Given the description of an element on the screen output the (x, y) to click on. 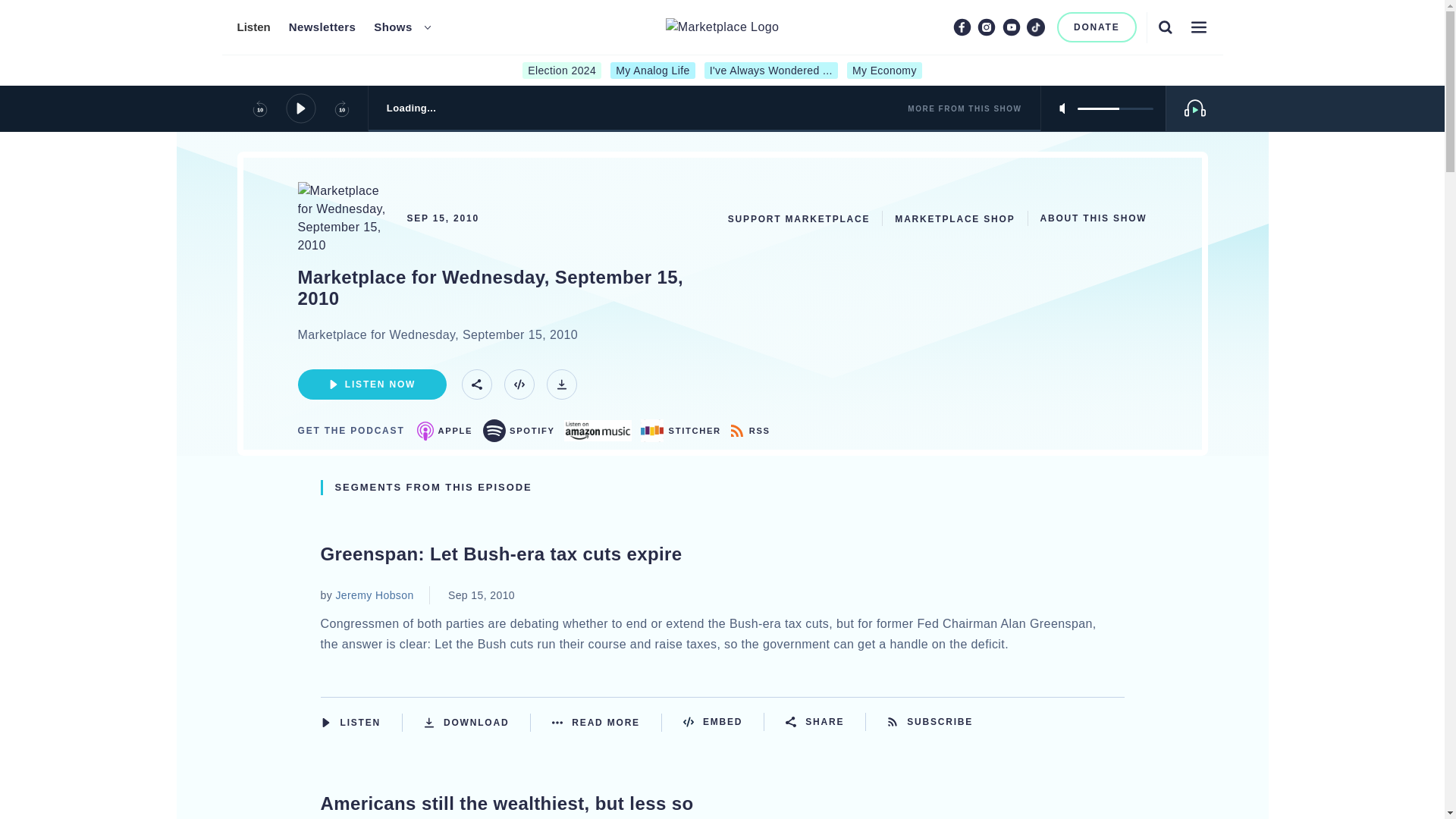
Shows (393, 26)
Newsletters (322, 27)
TikTok (1035, 27)
Skip 10 Seconds (341, 108)
Listen Now (371, 384)
5 (1115, 108)
Listen Now (360, 721)
Playback 10 Seconds (259, 108)
DONATE (1097, 27)
Menu (1198, 27)
Facebook (962, 27)
Read More (606, 721)
Listen (252, 26)
Youtube (1011, 27)
Search (1164, 27)
